Given the description of an element on the screen output the (x, y) to click on. 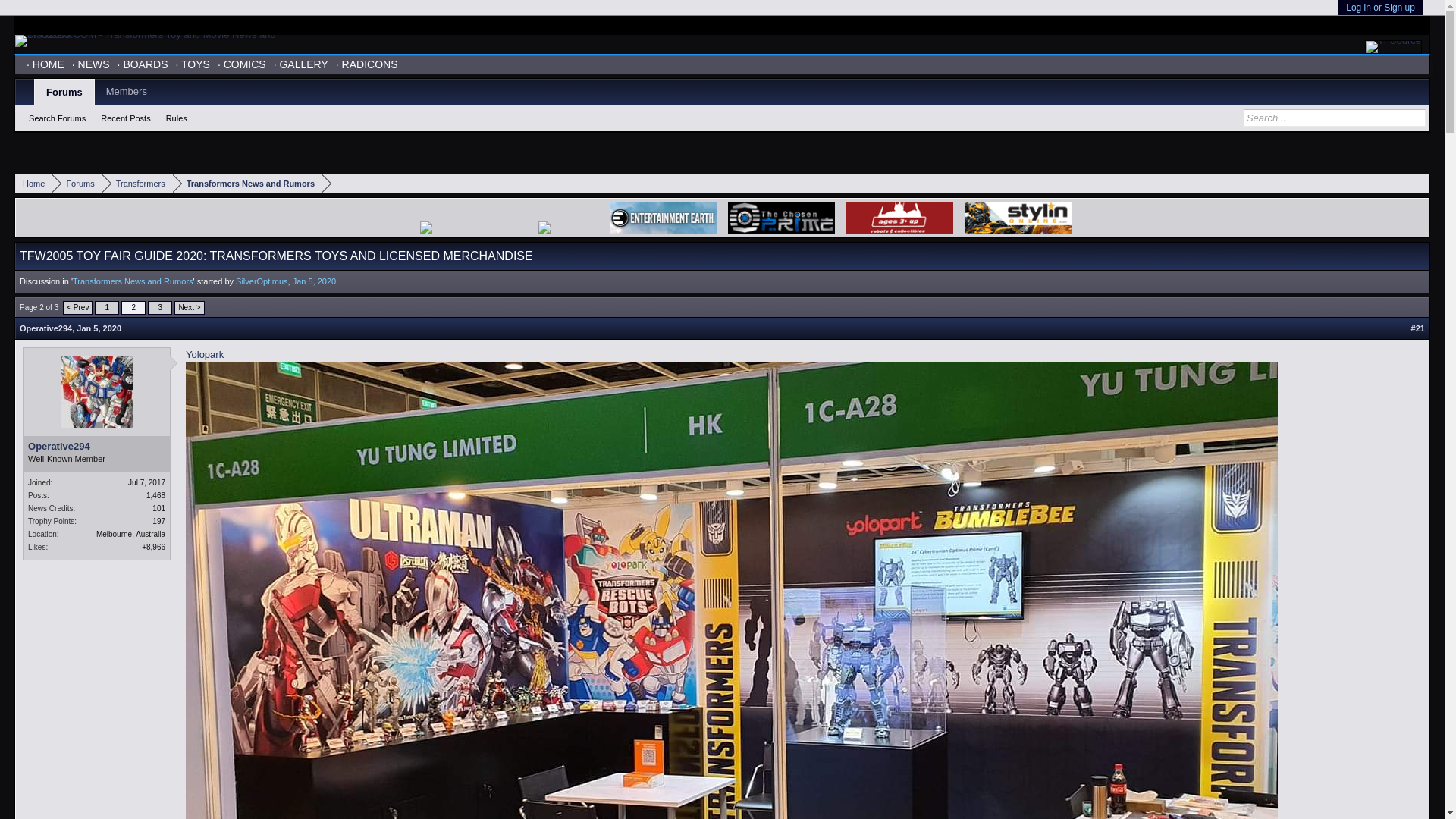
Transformers News and Rumors (247, 183)
Operative294 (45, 327)
SilverOptimus (260, 280)
Log in or Sign up (1380, 7)
Operative294 (96, 446)
Transformers News and Rumors (132, 280)
Home (33, 183)
1,468 (156, 495)
Jan 5, 2020 (314, 280)
1 (106, 307)
Yolopark (205, 354)
197 (158, 520)
Jan 5, 2020 at 4:00 AM (314, 280)
Melbourne, Australia (130, 533)
Permalink (98, 327)
